Given the description of an element on the screen output the (x, y) to click on. 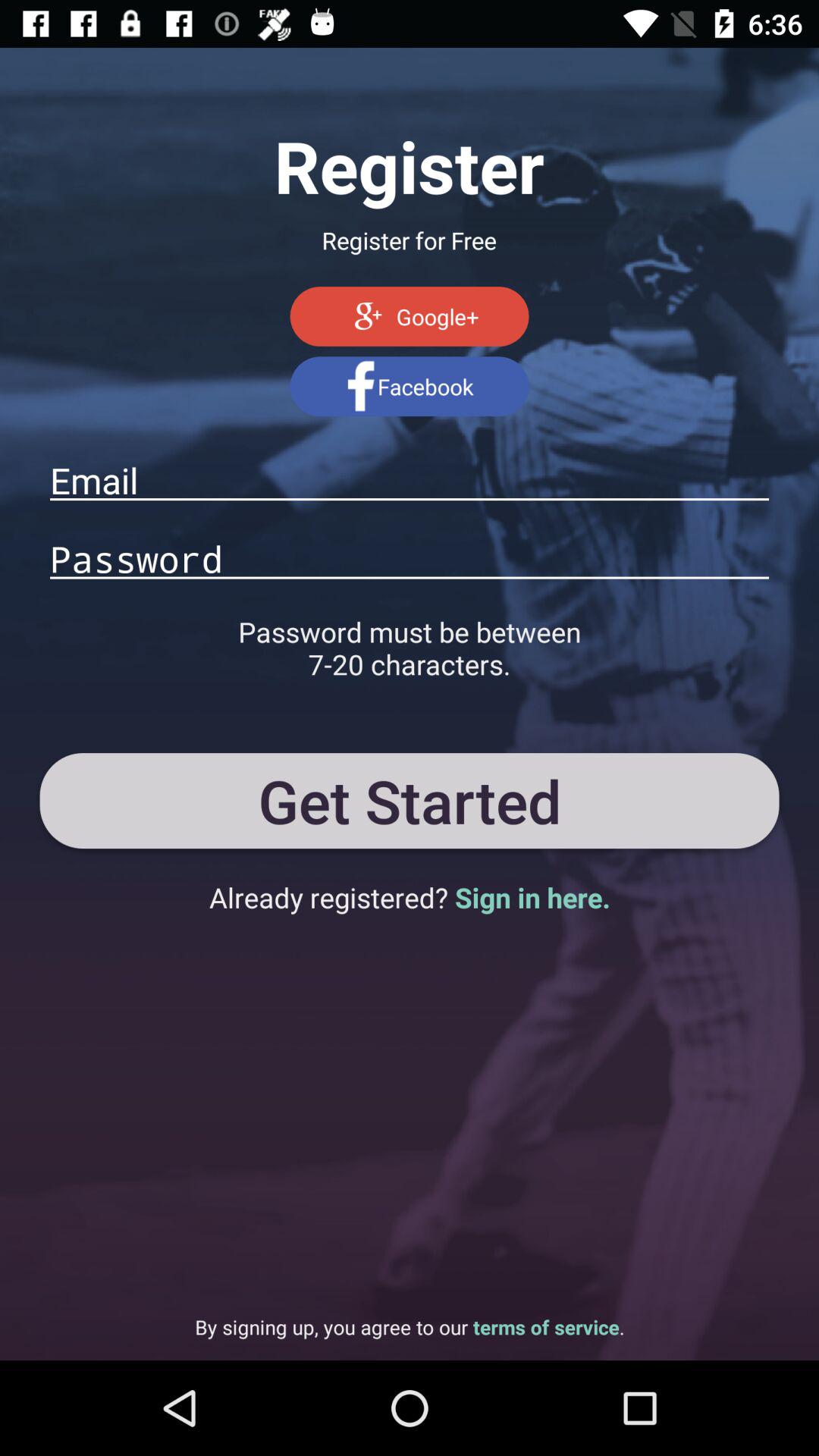
select icon below password must be item (409, 800)
